Given the description of an element on the screen output the (x, y) to click on. 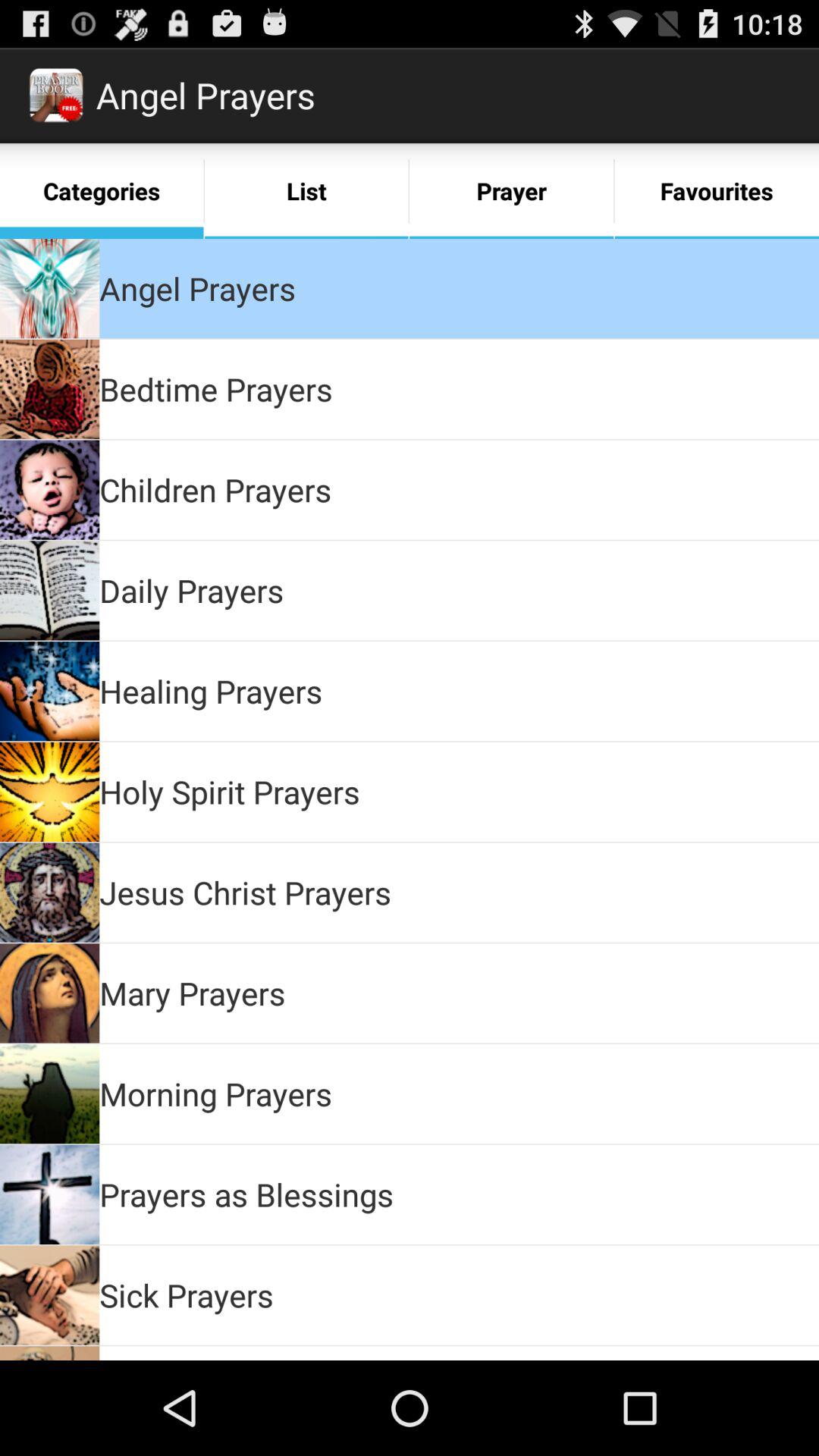
jump until bedtime prayers app (215, 388)
